Given the description of an element on the screen output the (x, y) to click on. 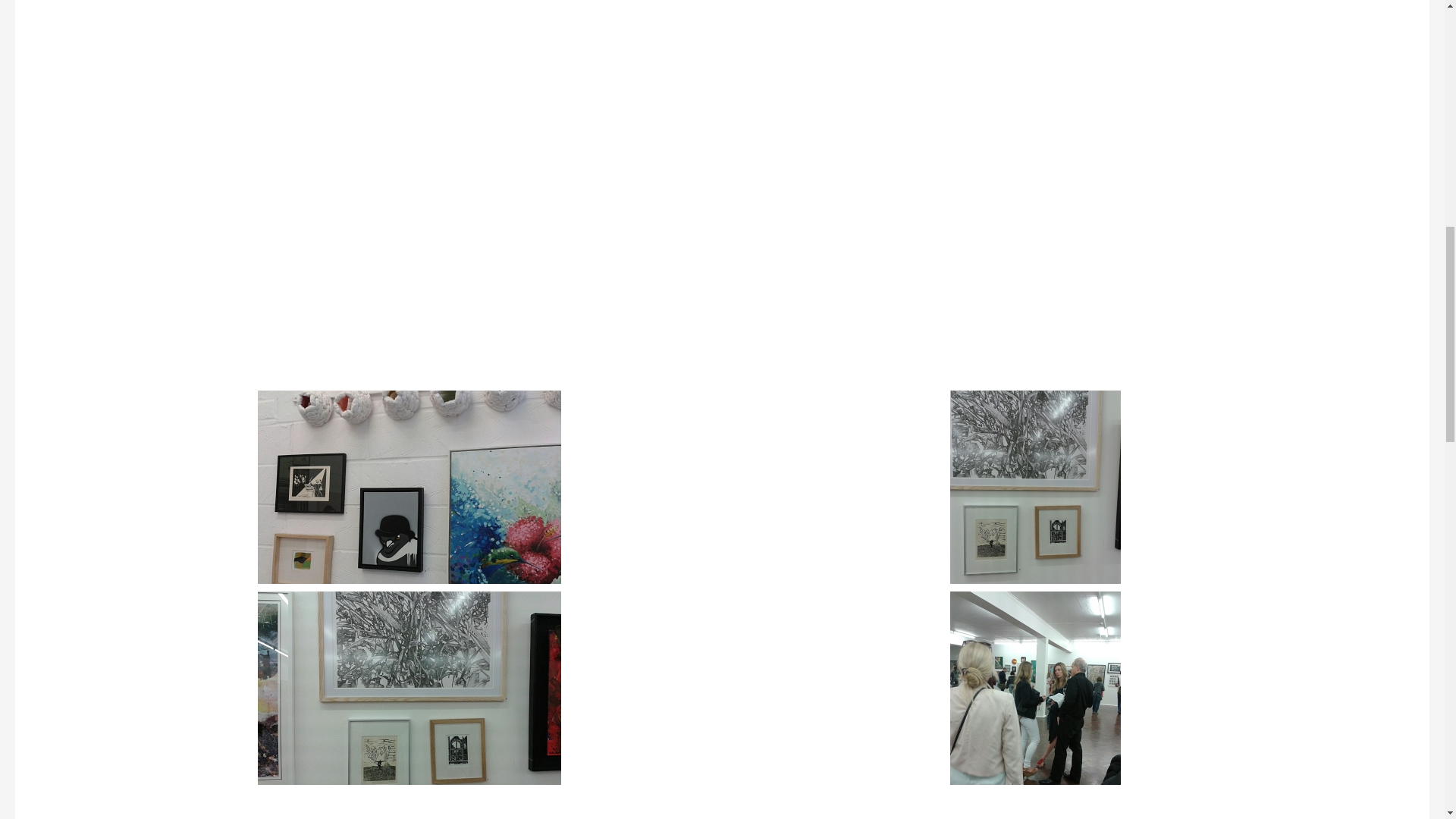
Salon des Refuses 2015 6 (770, 95)
Salon de Refuses 2015 5 (409, 95)
Salon de Refuses 2015 3 (409, 79)
Salon de Refuses 2015 4 (770, 79)
